Given the description of an element on the screen output the (x, y) to click on. 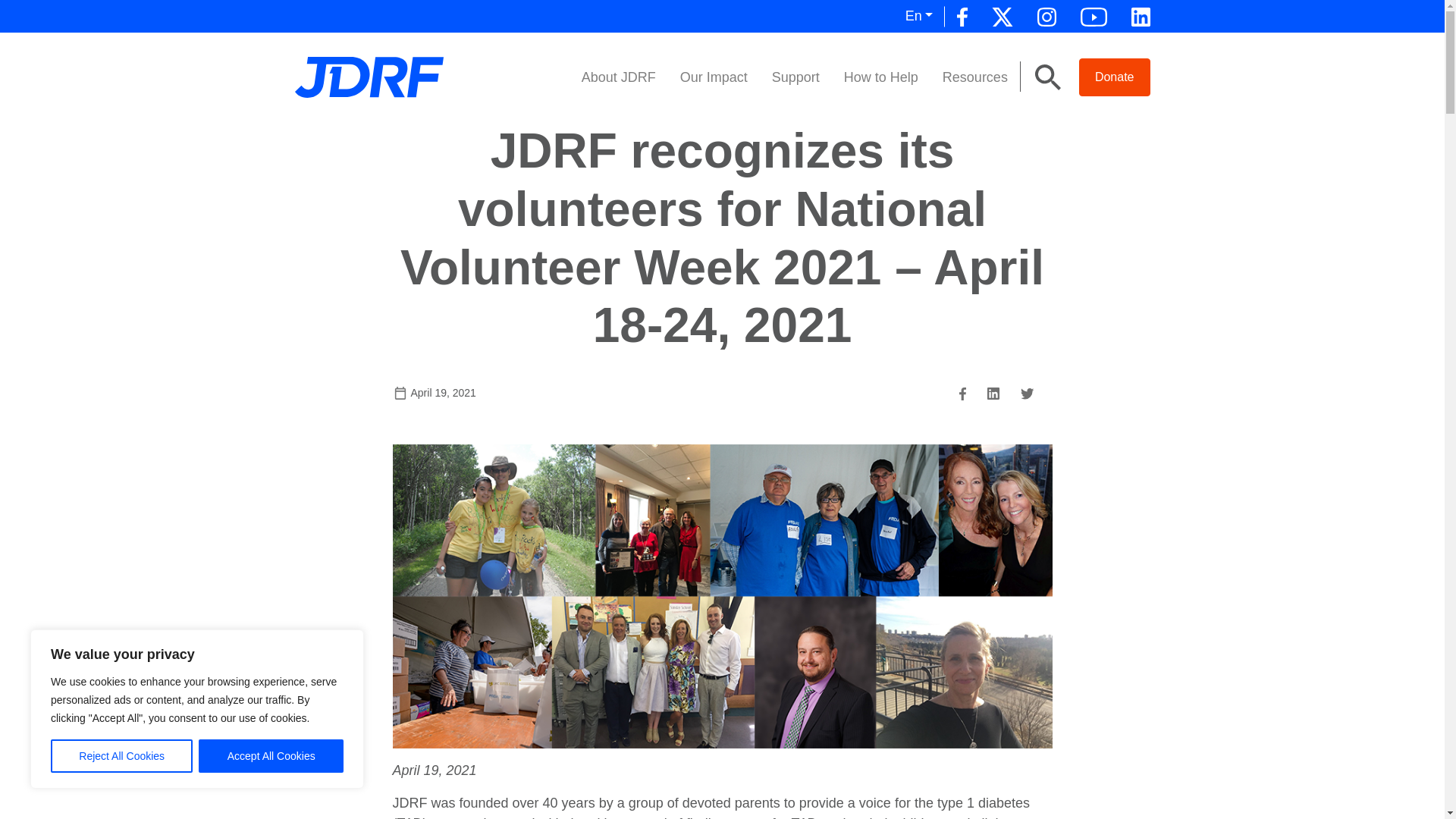
Reject All Cookies (121, 756)
Accept All Cookies (270, 756)
En (918, 16)
Our Impact (714, 76)
JDRF Canada (368, 76)
About JDRF (618, 76)
